Given the description of an element on the screen output the (x, y) to click on. 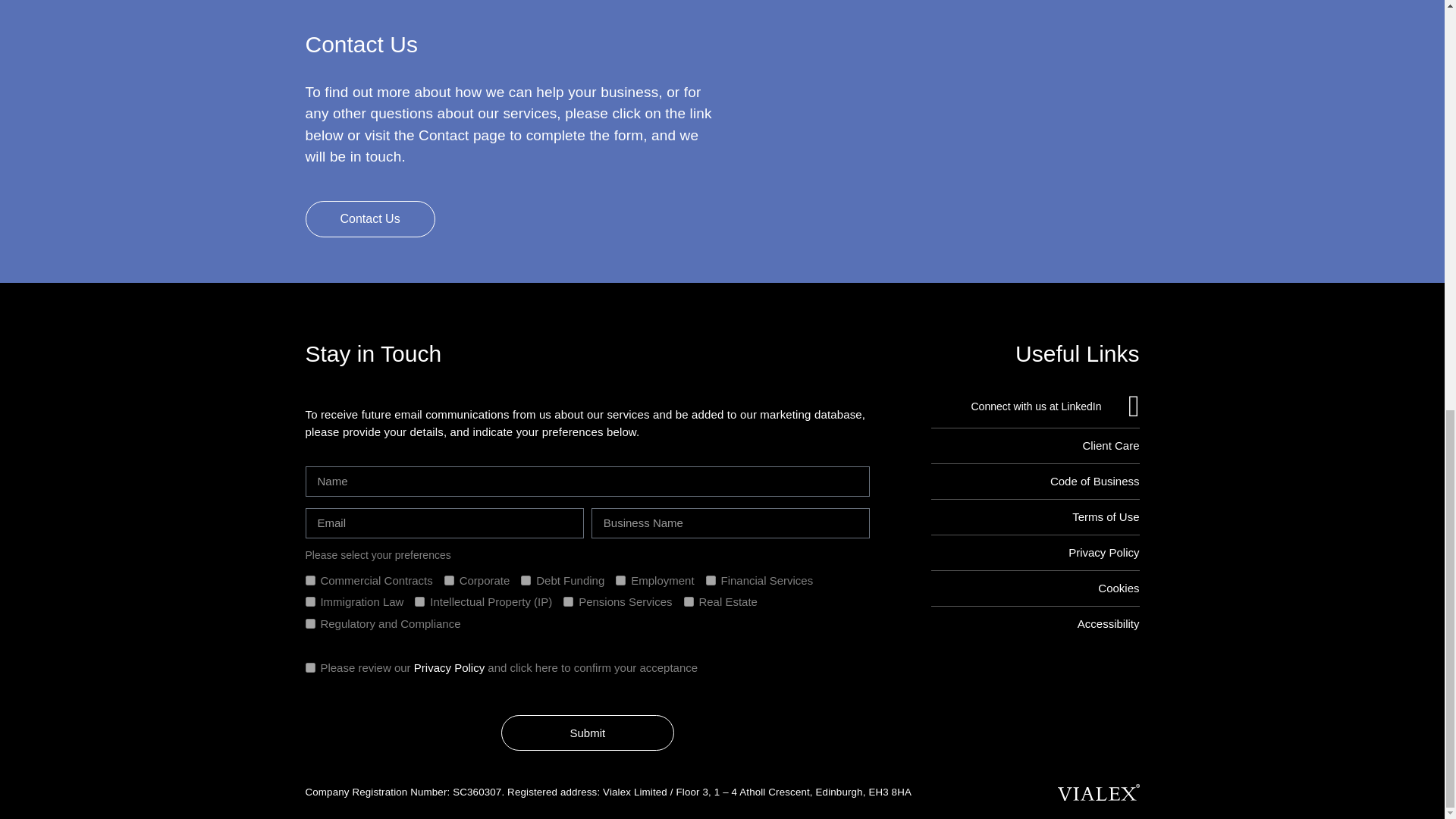
Commercial Contracts (309, 580)
Contact Us (368, 218)
Privacy Policy (1035, 552)
 fip (419, 601)
Submit (587, 732)
Code of Business (1035, 480)
 fe (620, 580)
 fps (568, 601)
Terms of Use (1035, 516)
 fc (449, 580)
 frc (309, 623)
Cookies (1035, 588)
Connect with us at LinkedIn (1035, 406)
 fre (689, 601)
 ffs (711, 580)
